Given the description of an element on the screen output the (x, y) to click on. 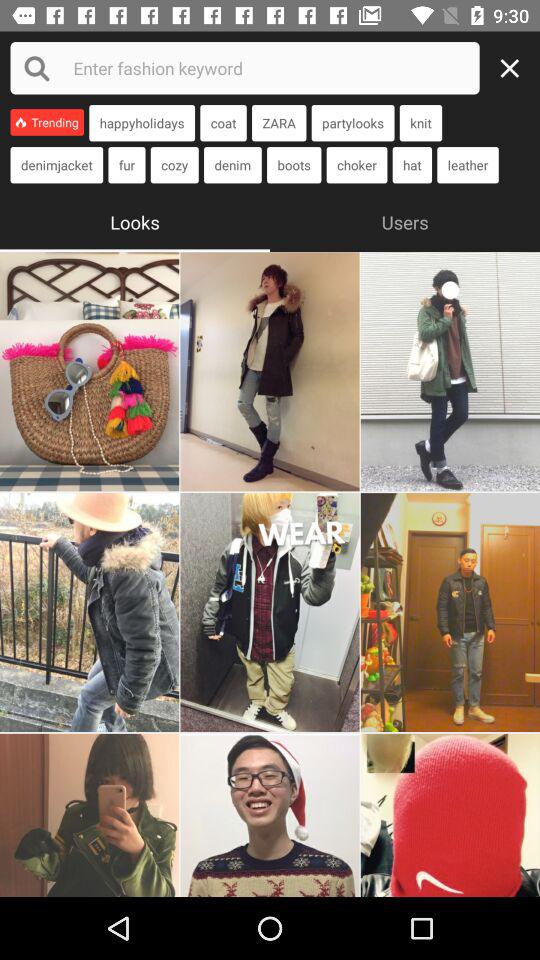
enhance image (269, 371)
